Given the description of an element on the screen output the (x, y) to click on. 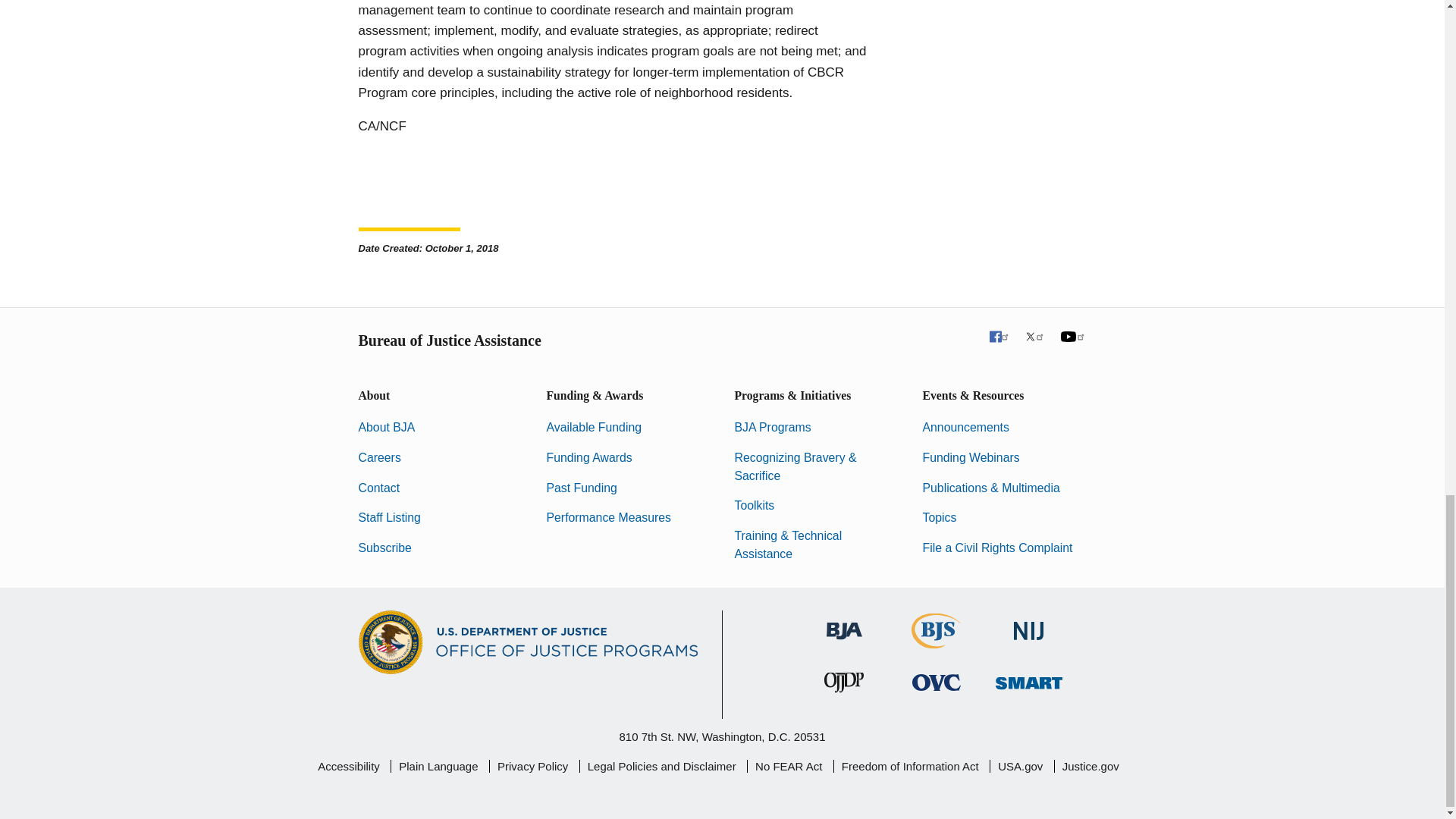
Performance Measures (608, 517)
Contact (378, 487)
Subscribe (384, 547)
About BJA (386, 427)
Staff Listing (389, 517)
Funding Awards (588, 457)
Careers (379, 457)
BJA Programs (771, 427)
Available Funding (594, 427)
Past Funding (580, 487)
